Given the description of an element on the screen output the (x, y) to click on. 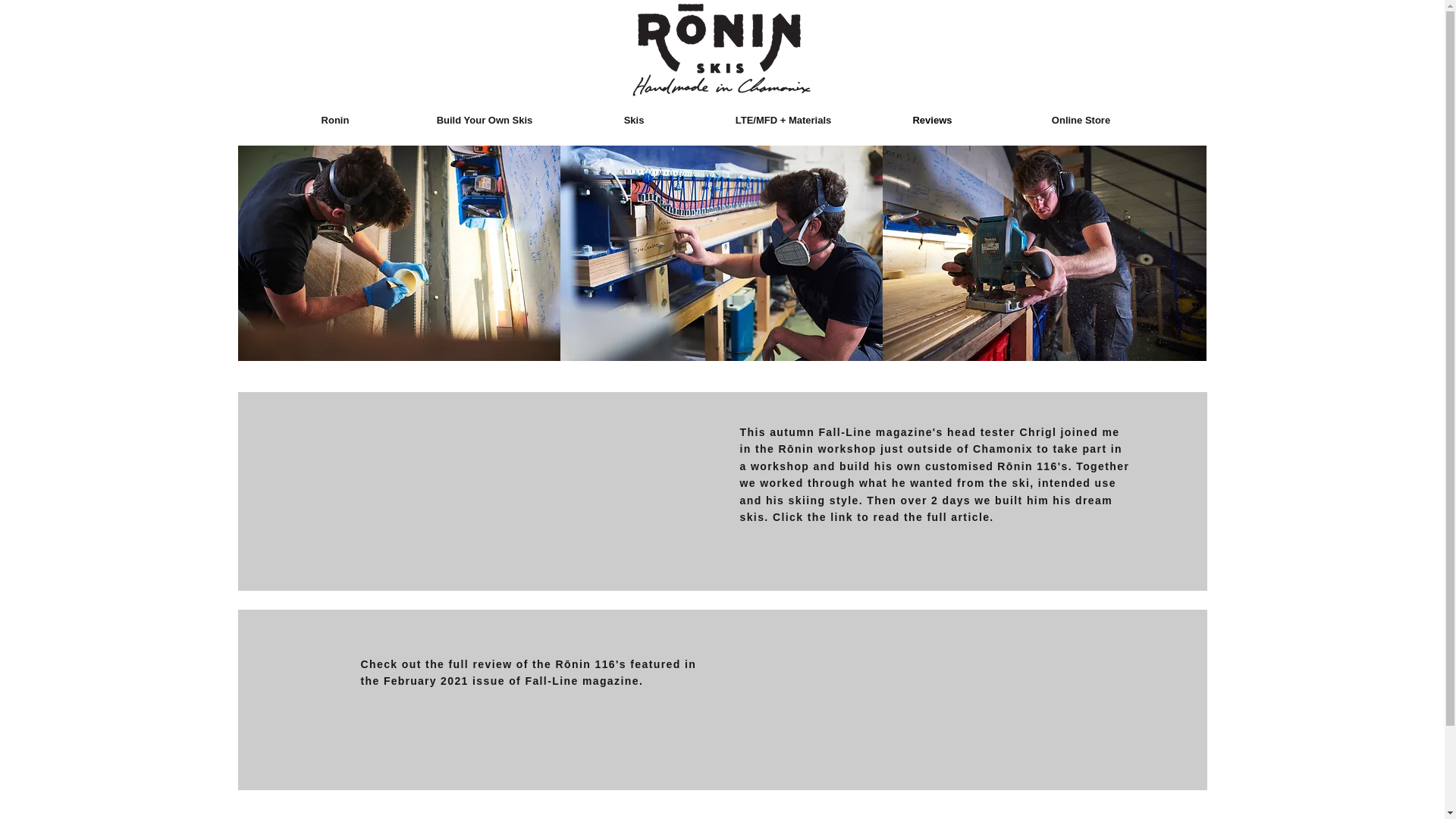
Reviews (933, 119)
Online Store (1081, 119)
Build Your Own Skis (484, 119)
Ronin (335, 119)
